Given the description of an element on the screen output the (x, y) to click on. 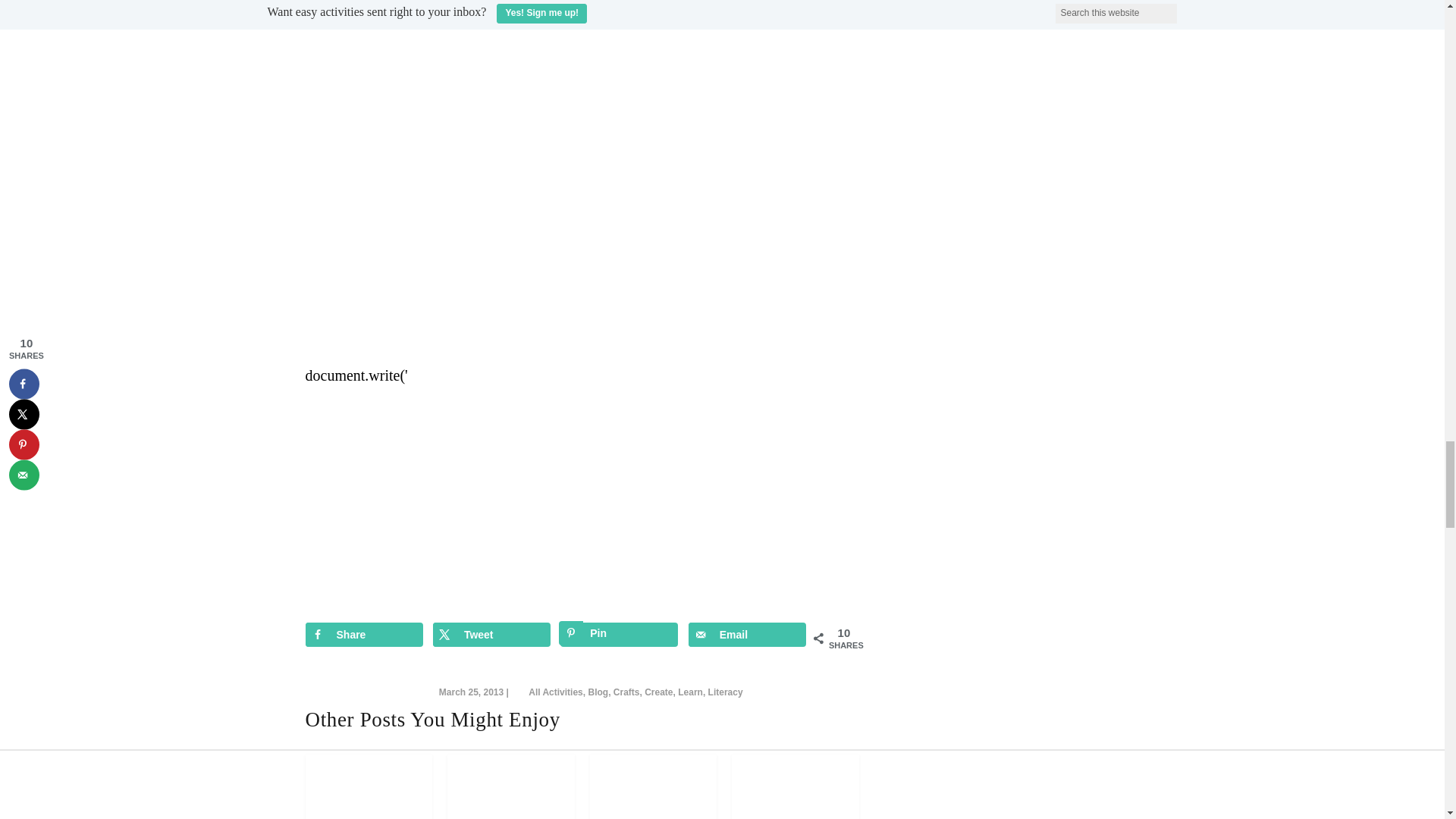
Send over email (747, 634)
Save to Pinterest (619, 634)
Share on Facebook (363, 634)
Share on X (491, 634)
